Given the description of an element on the screen output the (x, y) to click on. 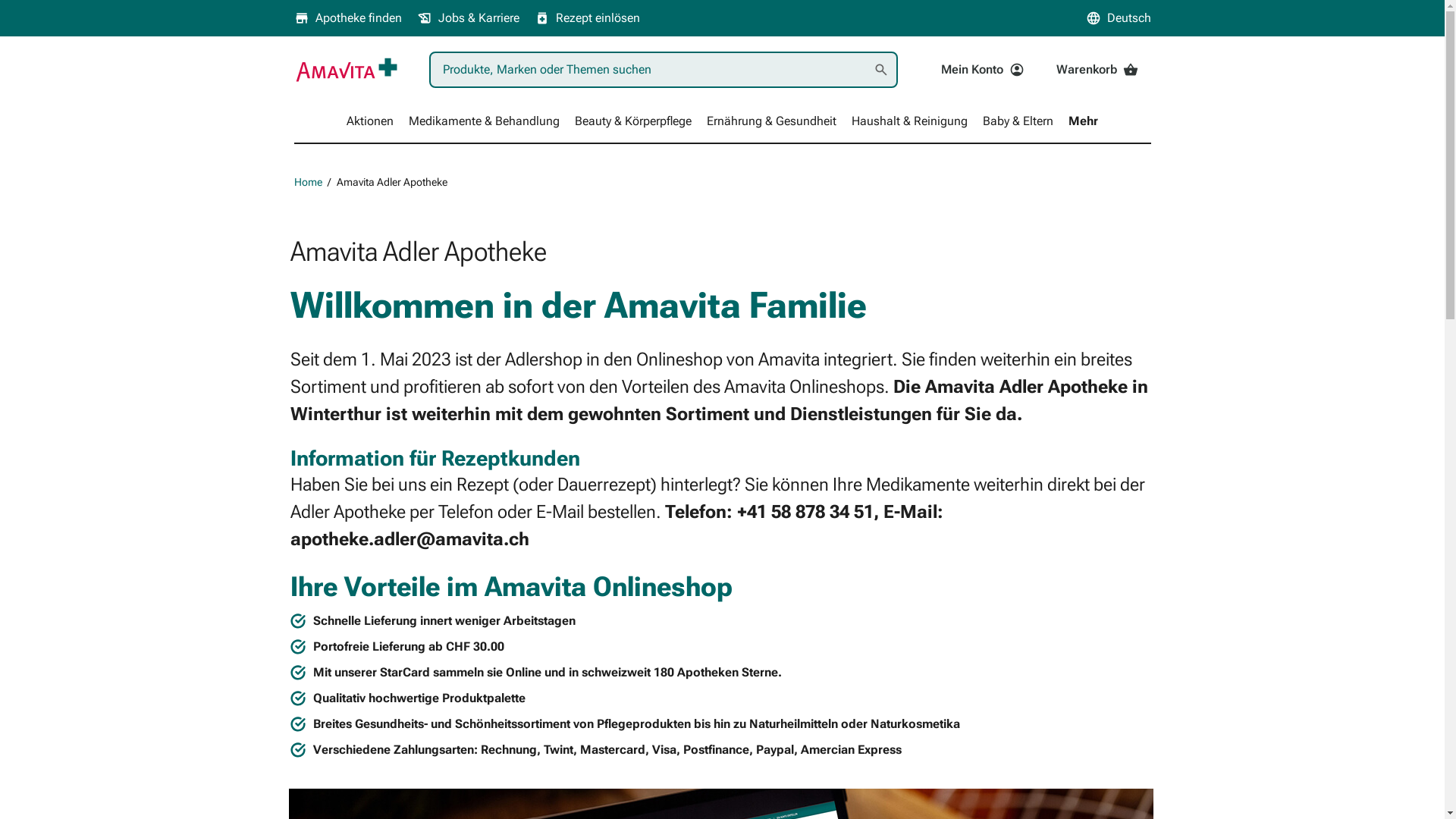
Warenkorb Element type: text (1097, 69)
Baby & Eltern Element type: text (1017, 121)
Amavita Apotheke E-Shop Element type: hover (346, 69)
Apotheke finden Element type: text (347, 18)
Home Element type: text (308, 182)
Mein Konto Element type: text (982, 69)
Suche Element type: text (880, 69)
Haushalt & Reinigung Element type: text (909, 121)
Medikamente & Behandlung Element type: text (484, 121)
Jobs & Karriere Element type: text (468, 18)
Aktionen Element type: text (369, 121)
